Given the description of an element on the screen output the (x, y) to click on. 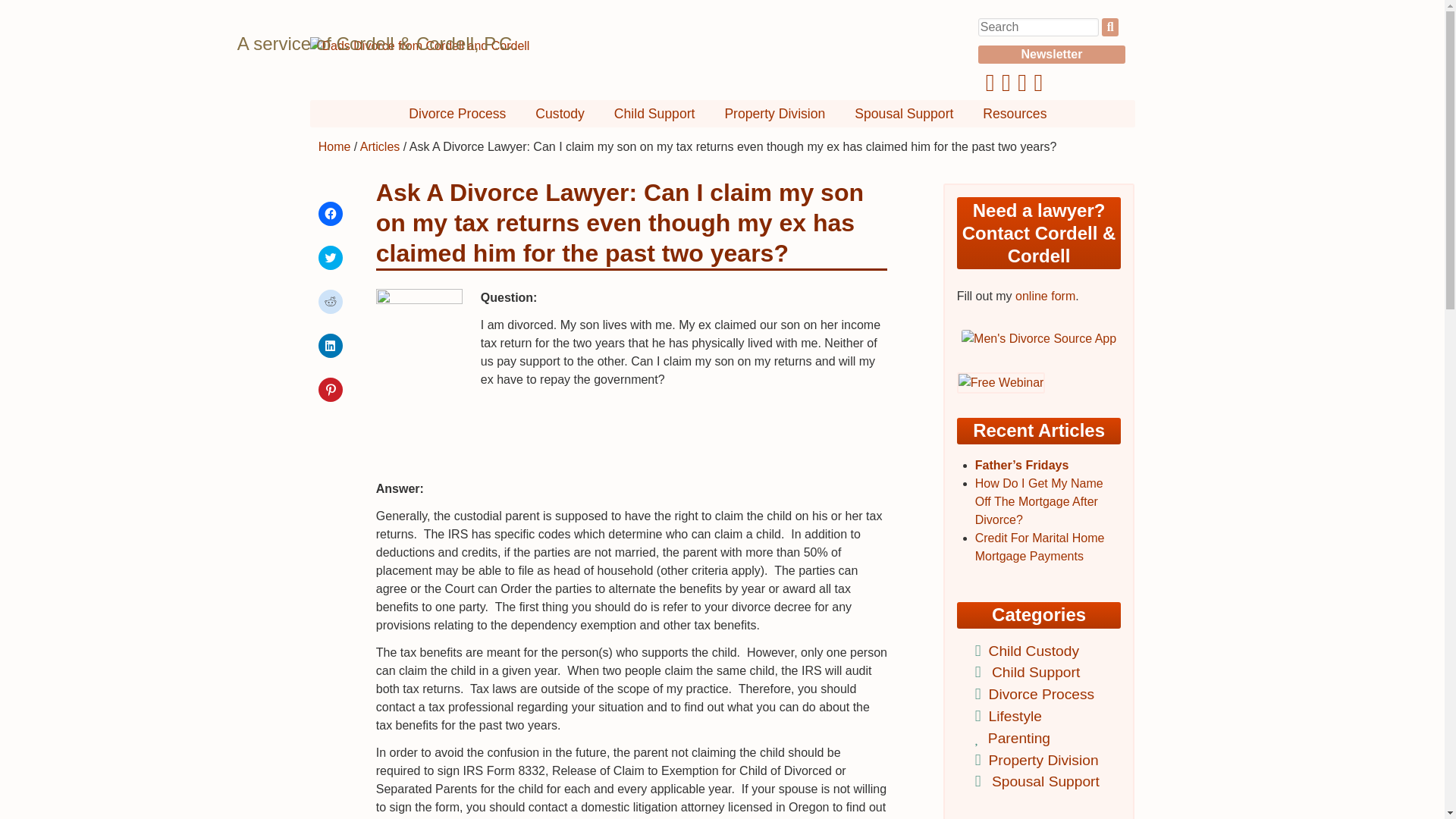
Newsletter (1051, 54)
Click to share on Pinterest (330, 389)
Resources (1014, 113)
How Do I Get My Name Off The Mortgage After Divorce? (1039, 501)
Home (334, 146)
Click to share on Reddit (330, 301)
Credit For Marital Home Mortgage Payments (1040, 546)
Newsletter (1051, 54)
Articles (378, 146)
Custody (560, 113)
Click to share on LinkedIn (330, 345)
Property Division (774, 113)
Click to share on Facebook (330, 213)
Divorce Process (1039, 693)
